Given the description of an element on the screen output the (x, y) to click on. 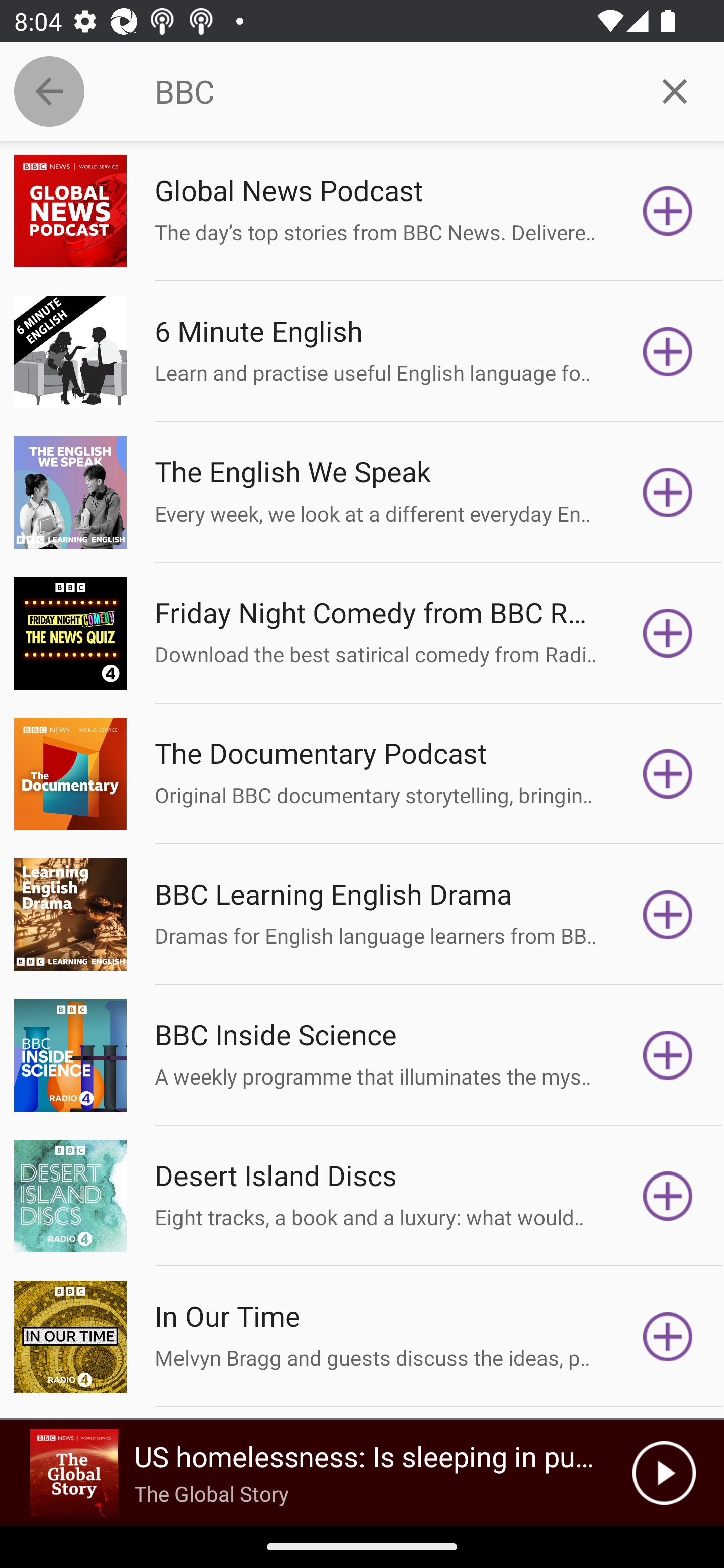
Collapse (49, 91)
Clear query (674, 90)
BBC (389, 91)
Subscribe (667, 211)
Subscribe (667, 350)
Subscribe (667, 491)
Subscribe (667, 633)
Subscribe (667, 773)
Subscribe (667, 913)
Subscribe (667, 1054)
Subscribe (667, 1195)
Subscribe (667, 1336)
Play (663, 1472)
